Given the description of an element on the screen output the (x, y) to click on. 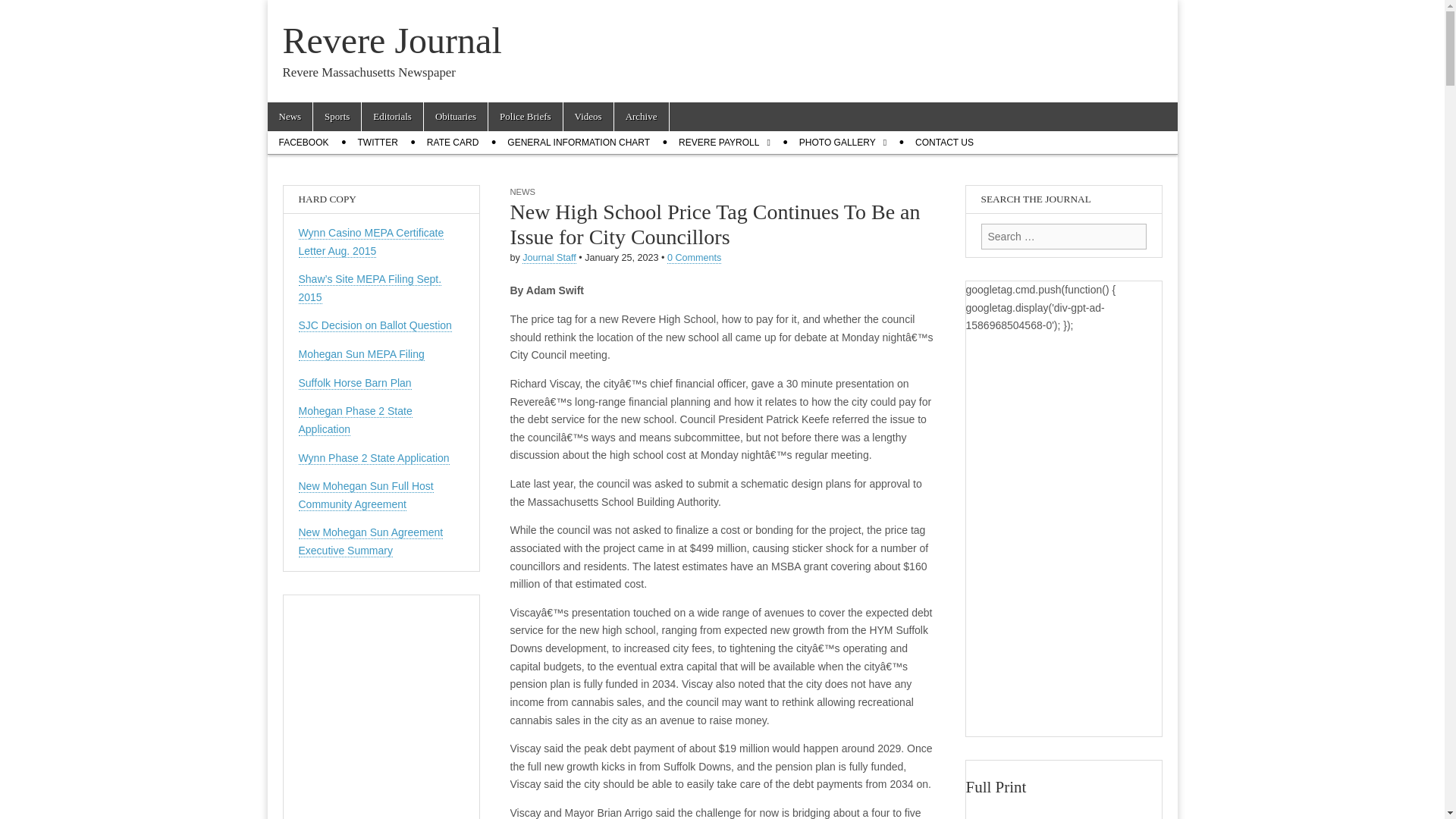
Posts by Journal Staff (548, 257)
RATE CARD (451, 142)
News (289, 116)
NEWS (522, 191)
Archive (641, 116)
Editorials (392, 116)
SJC Decision on Ballot Question (374, 325)
FACEBOOK (302, 142)
PHOTO GALLERY (842, 142)
Police Briefs (524, 116)
Revere Journal (391, 40)
CONTACT US (944, 142)
GENERAL INFORMATION CHART (578, 142)
Wynn Casino MEPA Certificate Letter Aug. 2015 (371, 241)
